Given the description of an element on the screen output the (x, y) to click on. 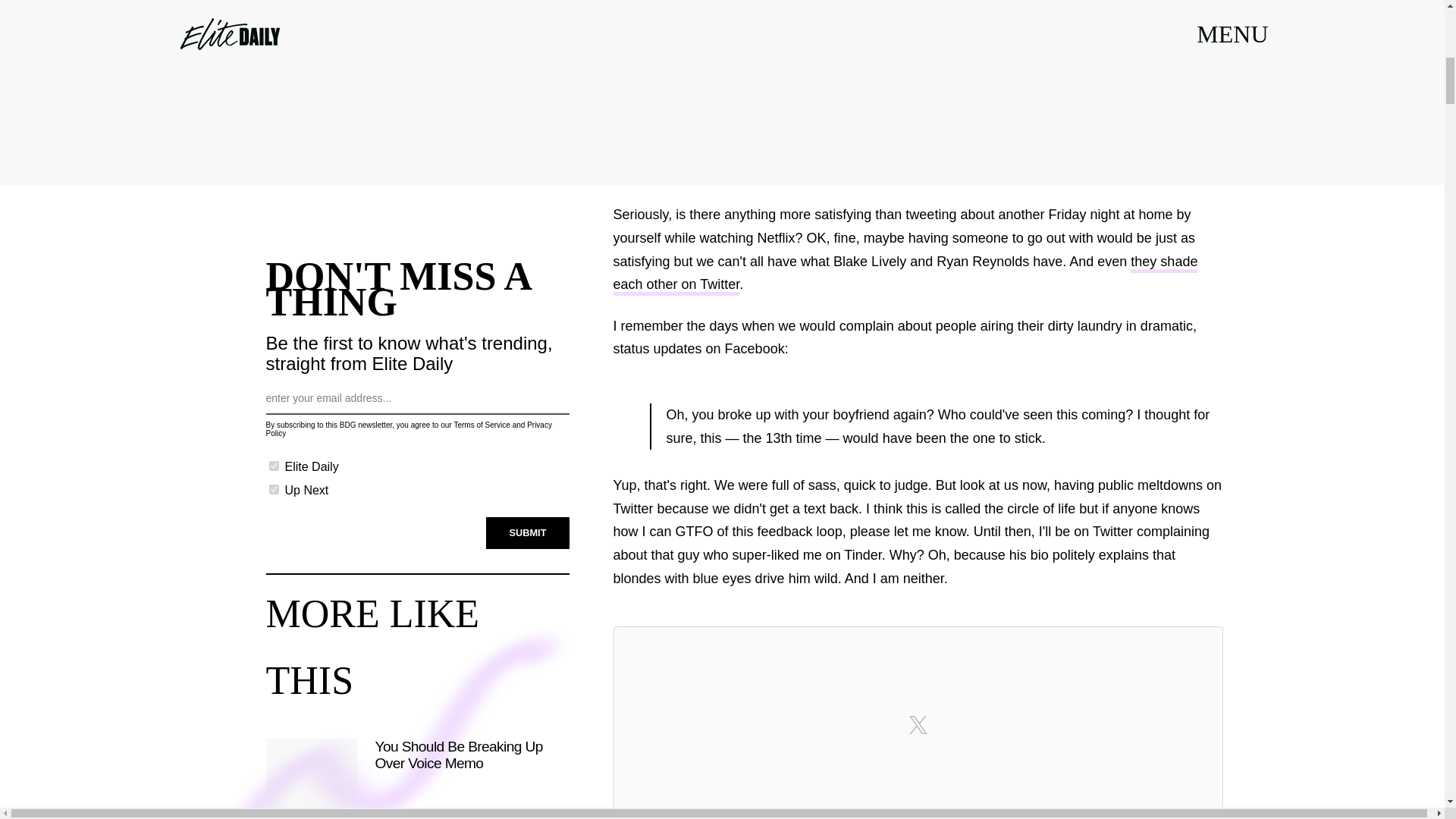
SUBMIT (527, 532)
they shade each other on Twitter (904, 274)
Terms of Service (480, 424)
Privacy Policy (407, 428)
